Given the description of an element on the screen output the (x, y) to click on. 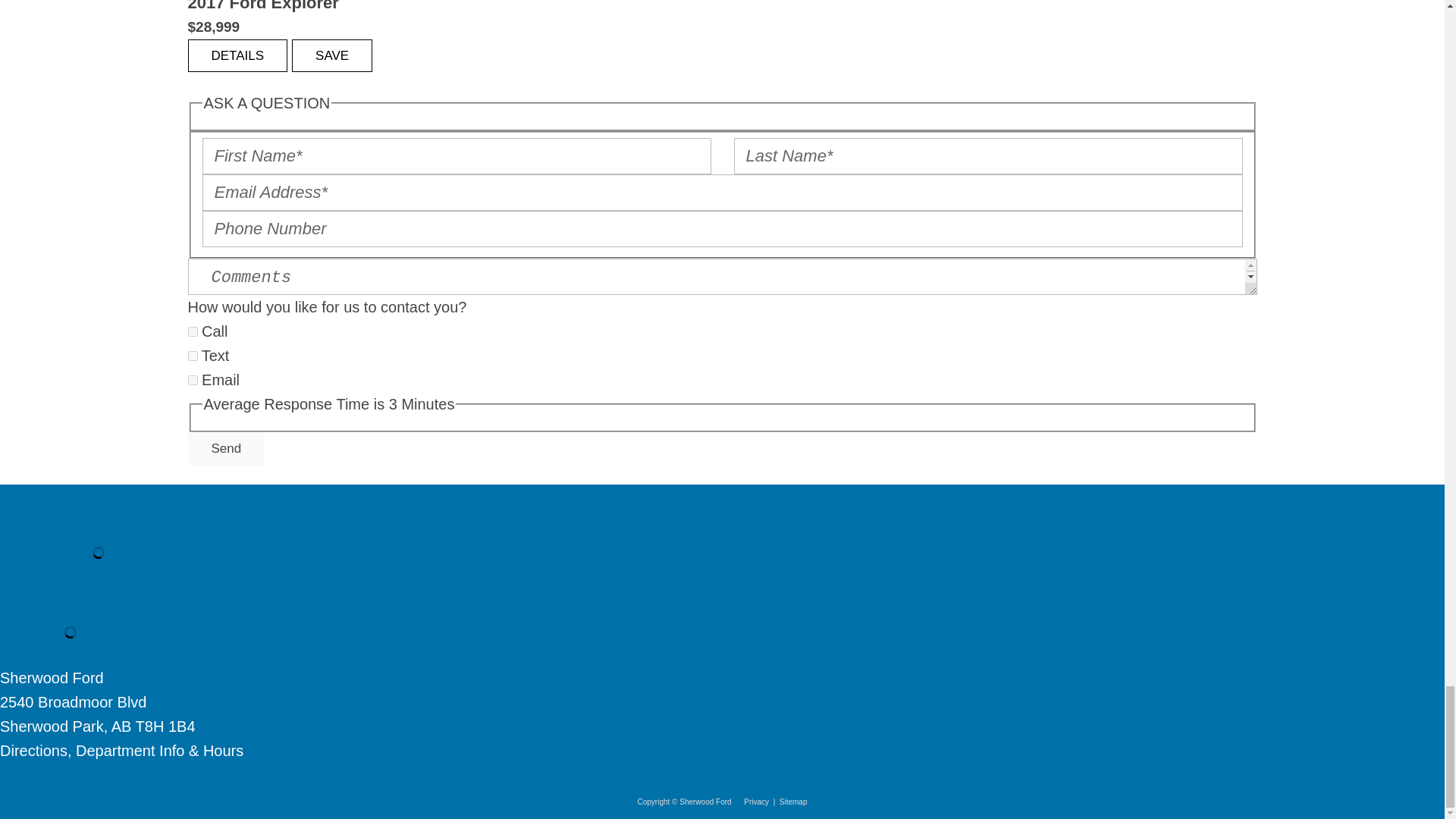
Call (192, 331)
Text (192, 356)
Email (192, 379)
